Given the description of an element on the screen output the (x, y) to click on. 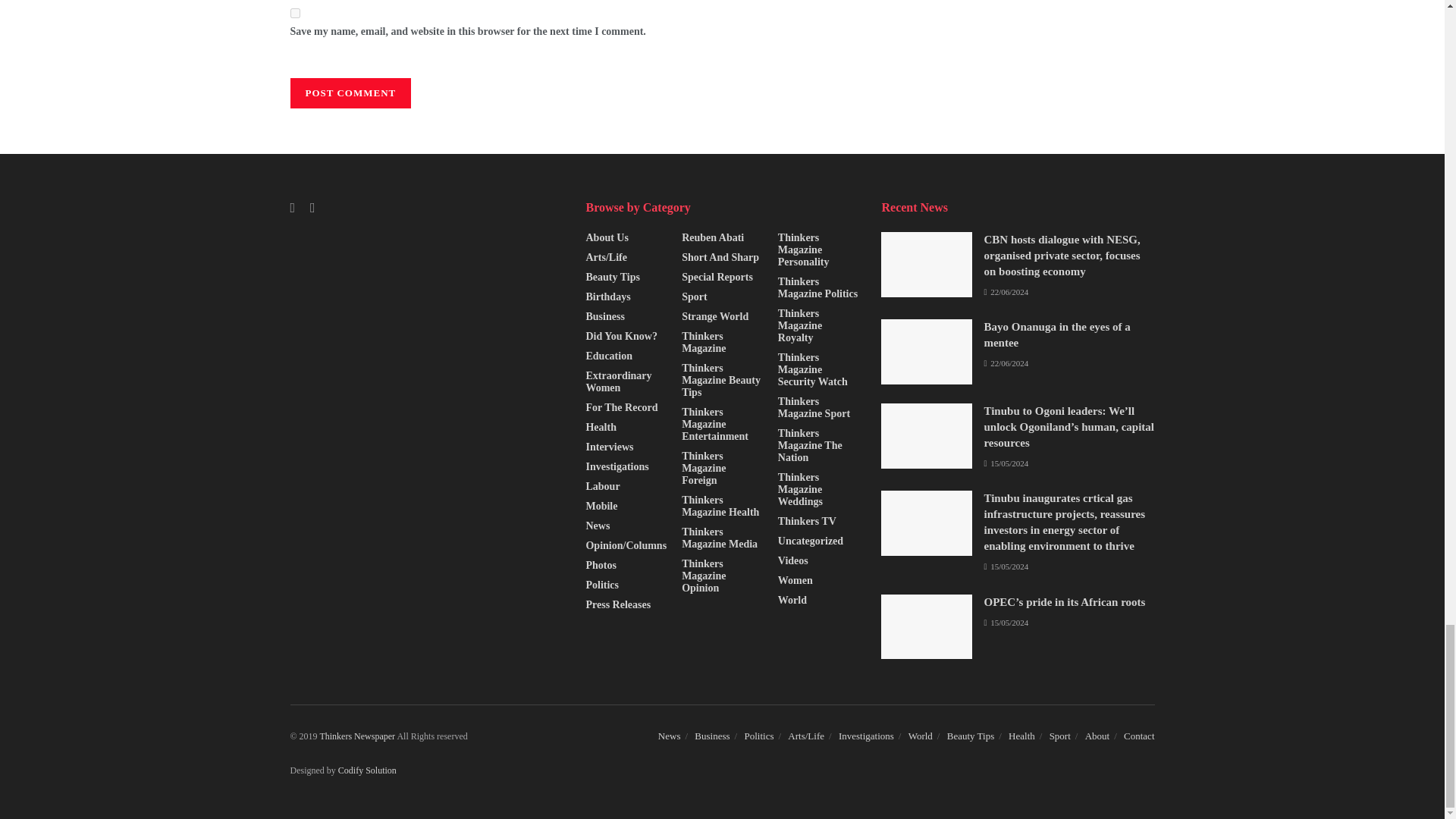
yes (294, 13)
Post Comment (349, 92)
Top News Site (357, 736)
